Given the description of an element on the screen output the (x, y) to click on. 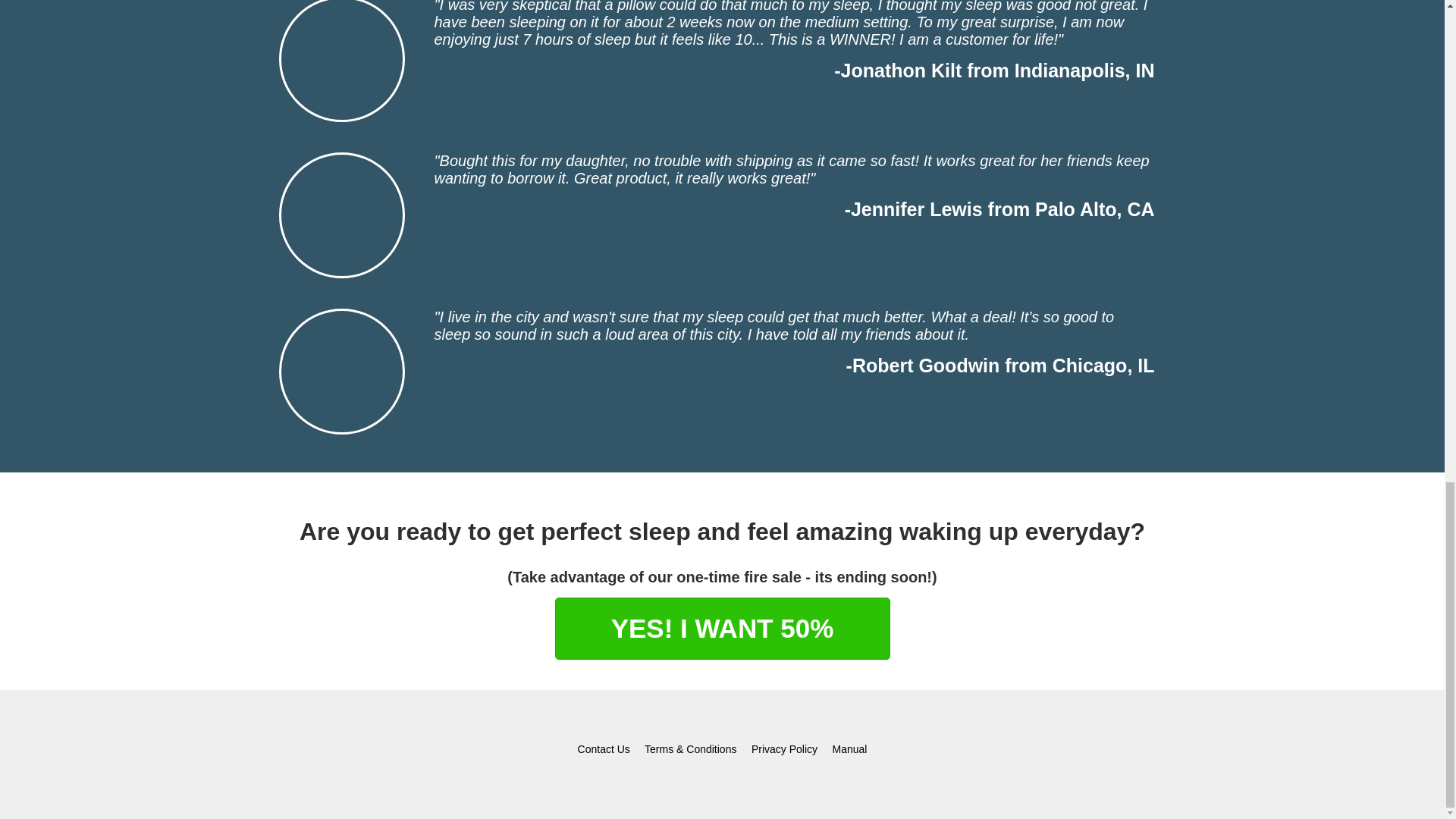
Manual (848, 748)
Contact Us (604, 748)
Privacy Policy (783, 748)
